Given the description of an element on the screen output the (x, y) to click on. 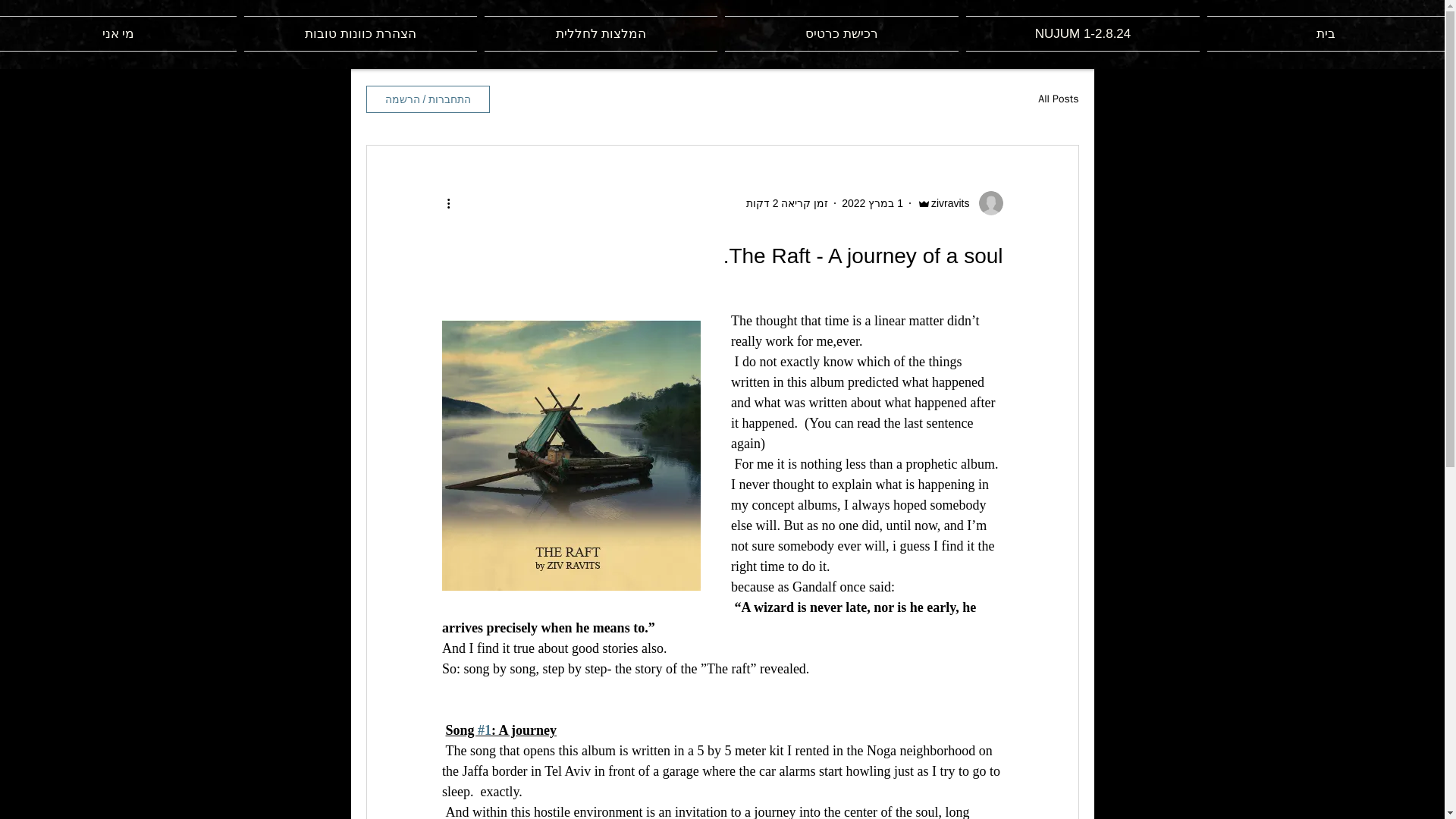
zivravits (954, 203)
NUJUM 1-2.8.24 (1083, 33)
All Posts (1058, 99)
